Given the description of an element on the screen output the (x, y) to click on. 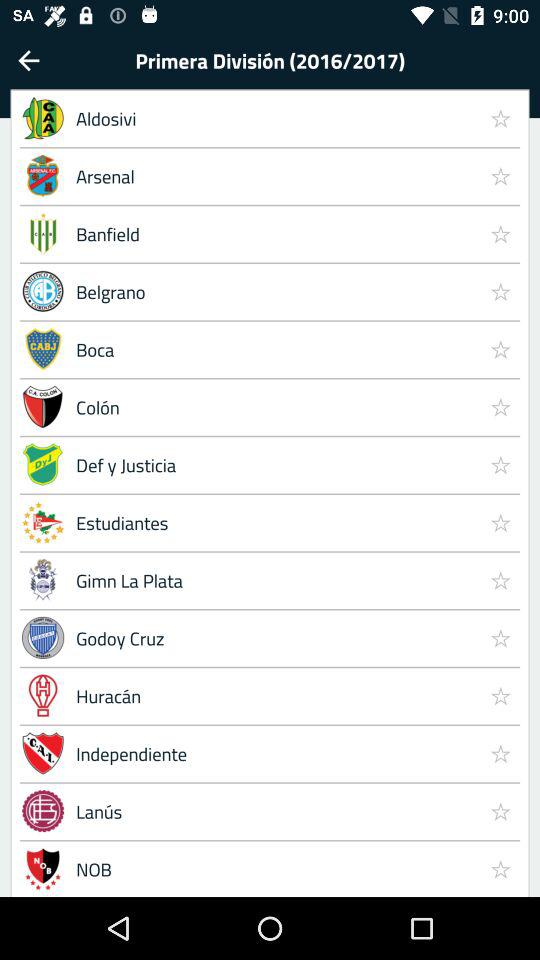
press item to the right of the arsenal (500, 233)
